Given the description of an element on the screen output the (x, y) to click on. 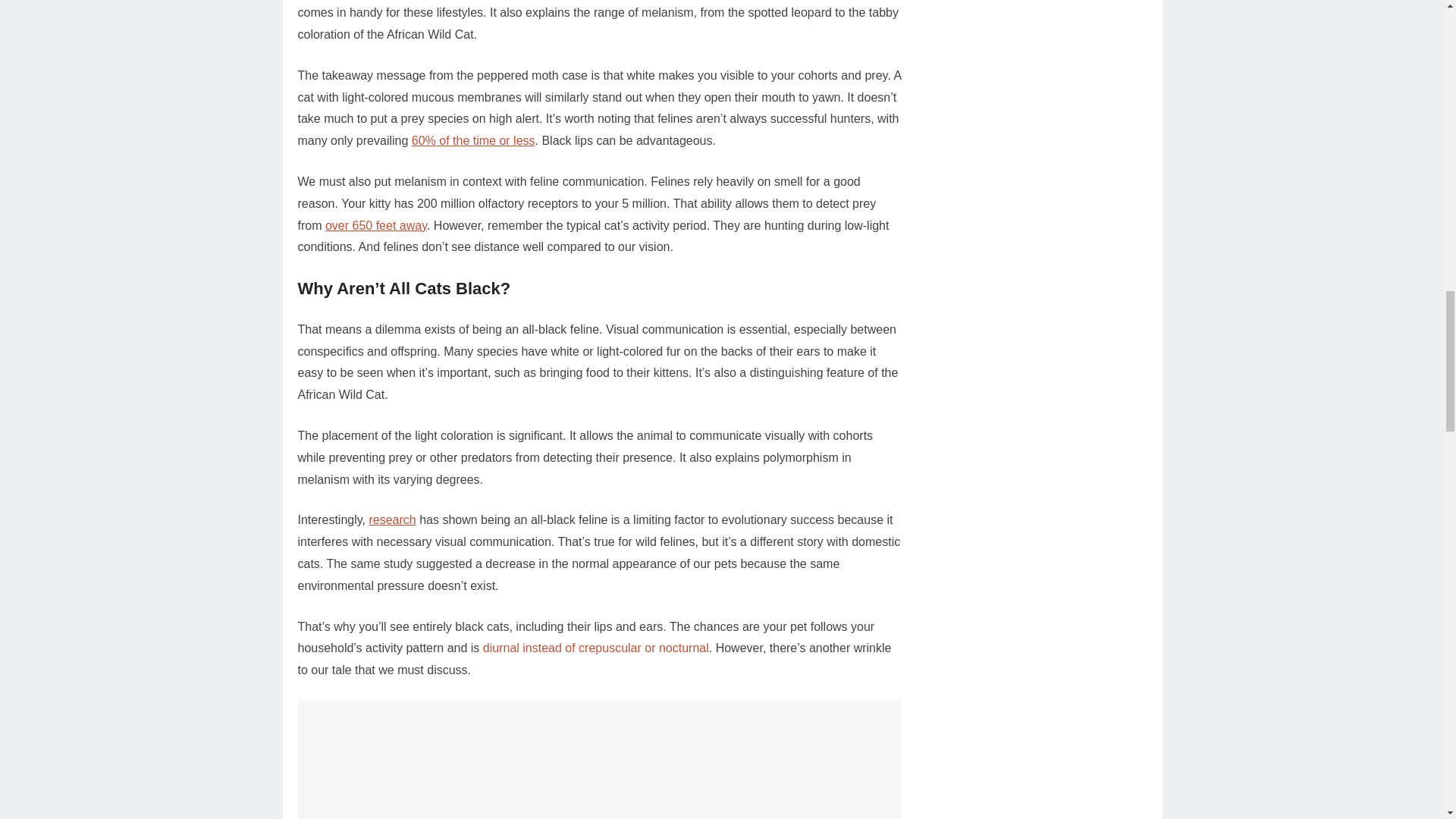
diurnal instead of crepuscular or nocturnal (596, 647)
over 650 feet away (375, 225)
research (391, 519)
